Given the description of an element on the screen output the (x, y) to click on. 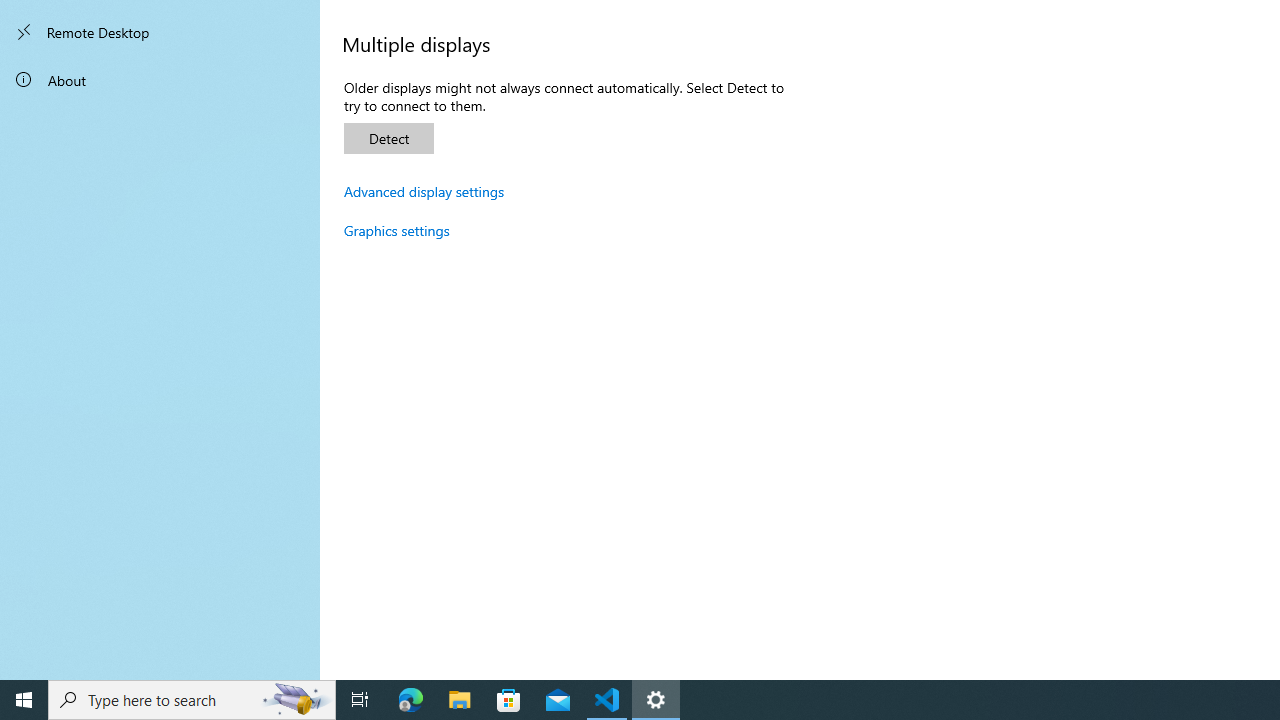
Detect (388, 138)
Advanced display settings (424, 191)
Graphics settings (397, 230)
About (160, 79)
Remote Desktop (160, 31)
